Given the description of an element on the screen output the (x, y) to click on. 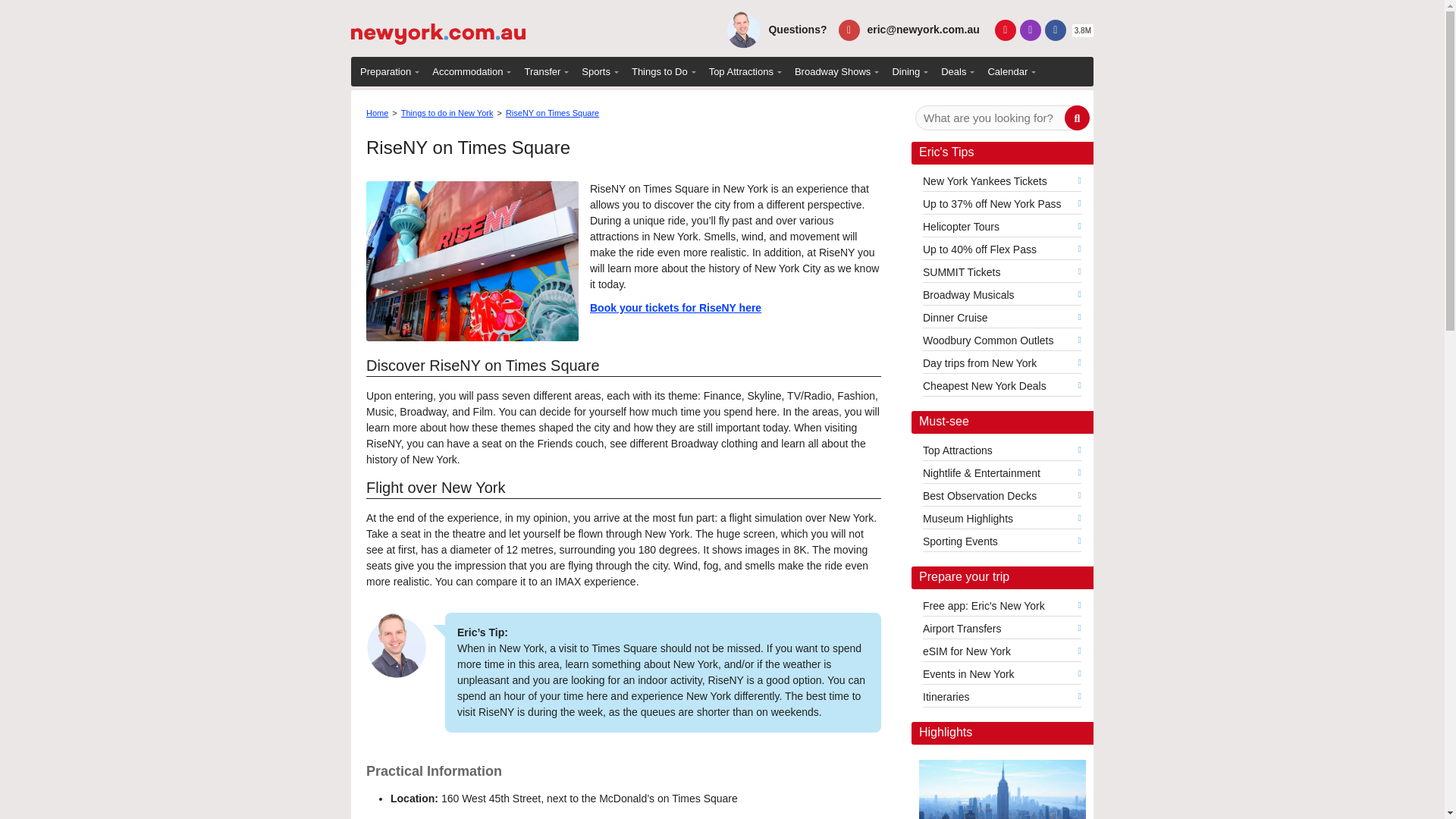
NewYork.com.au (437, 27)
